Given the description of an element on the screen output the (x, y) to click on. 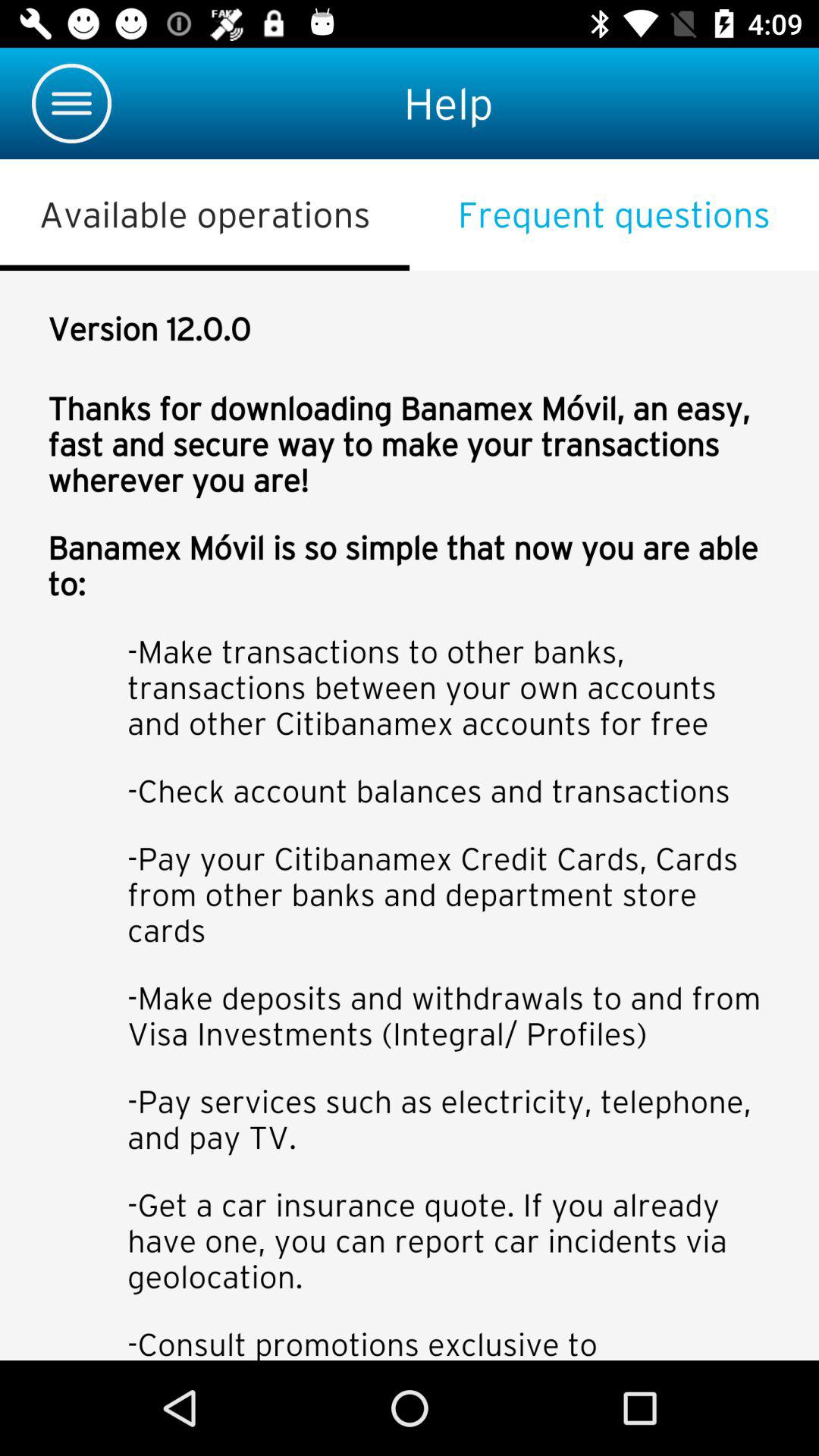
select all text (409, 815)
